Given the description of an element on the screen output the (x, y) to click on. 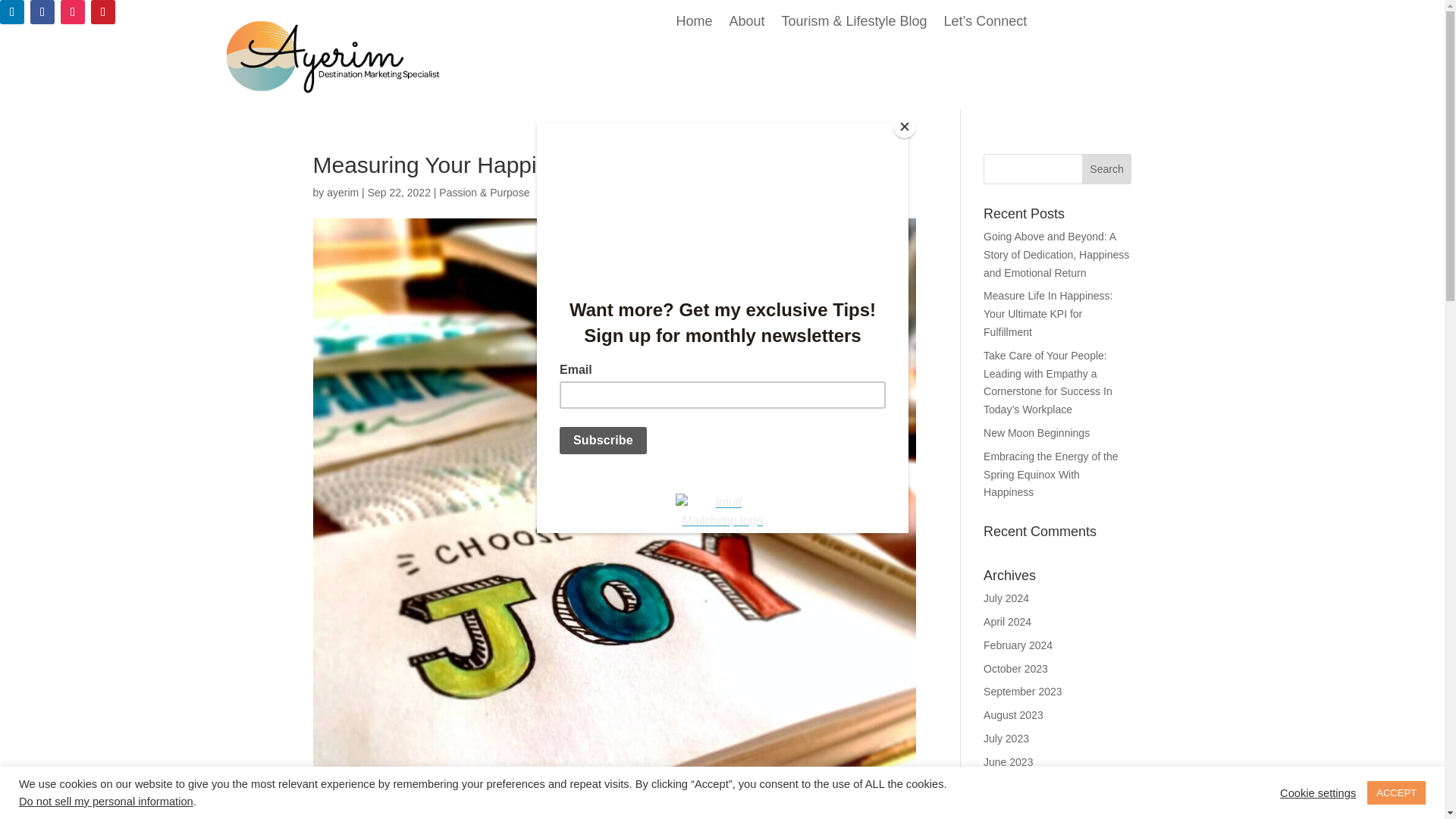
Search (1106, 168)
ayerim (342, 192)
Follow on Pinterest (102, 12)
Search (1106, 168)
Measure Life In Happiness: Your Ultimate KPI for Fulfillment (1048, 313)
Follow on Facebook (42, 12)
Posts by ayerim (342, 192)
Follow on Instagram (72, 12)
About (746, 23)
